Given the description of an element on the screen output the (x, y) to click on. 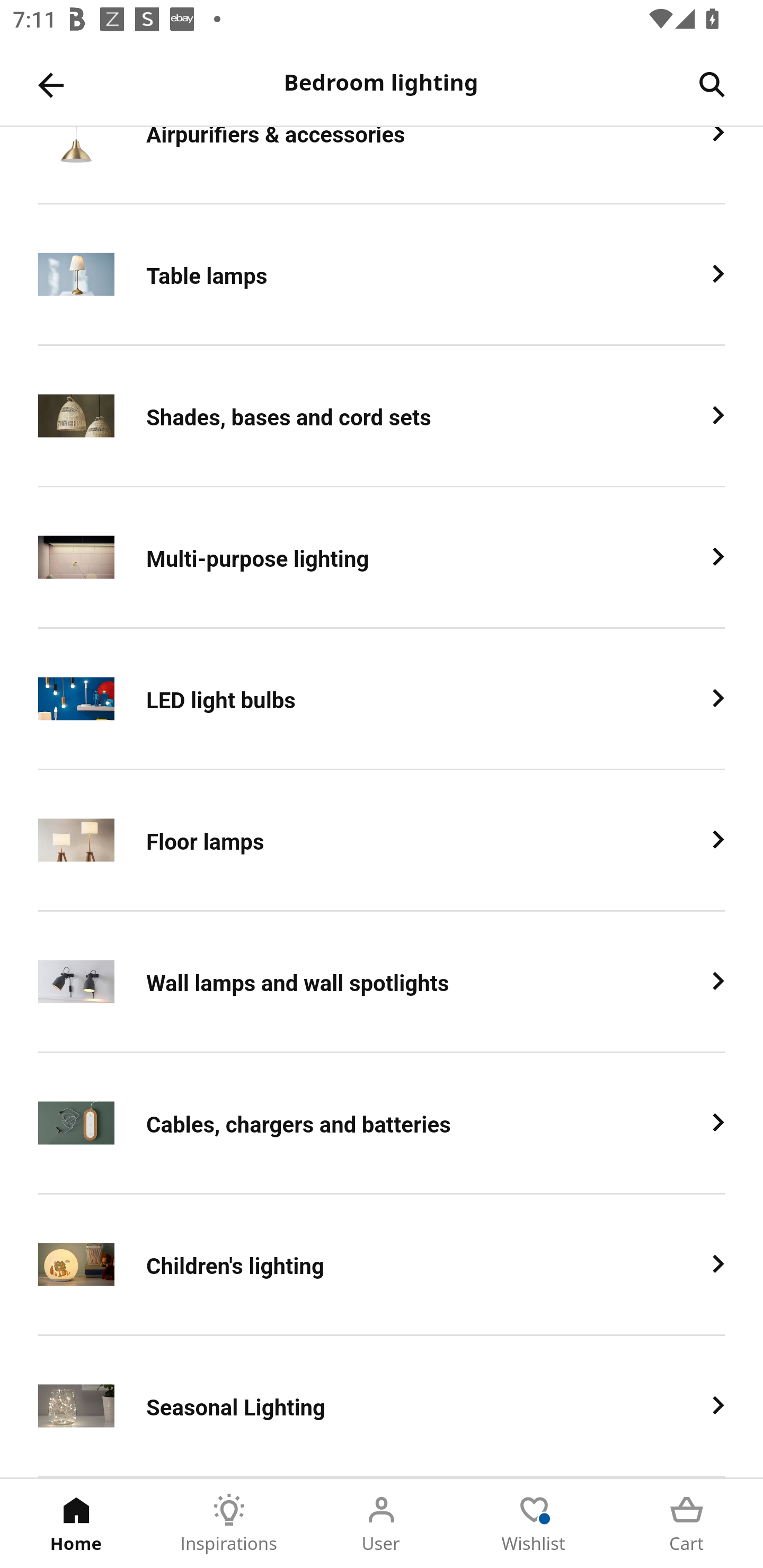
Airpurifiers & accessories (381, 165)
Table lamps (381, 274)
Shades, bases and cord sets (381, 416)
Multi-purpose lighting (381, 557)
LED light bulbs (381, 698)
Floor lamps (381, 840)
Wall lamps and wall spotlights (381, 982)
Cables, chargers and batteries (381, 1123)
Children's lighting (381, 1264)
Seasonal Lighting (381, 1406)
Home
Tab 1 of 5 (76, 1522)
Inspirations
Tab 2 of 5 (228, 1522)
User
Tab 3 of 5 (381, 1522)
Wishlist
Tab 4 of 5 (533, 1522)
Cart
Tab 5 of 5 (686, 1522)
